Given the description of an element on the screen output the (x, y) to click on. 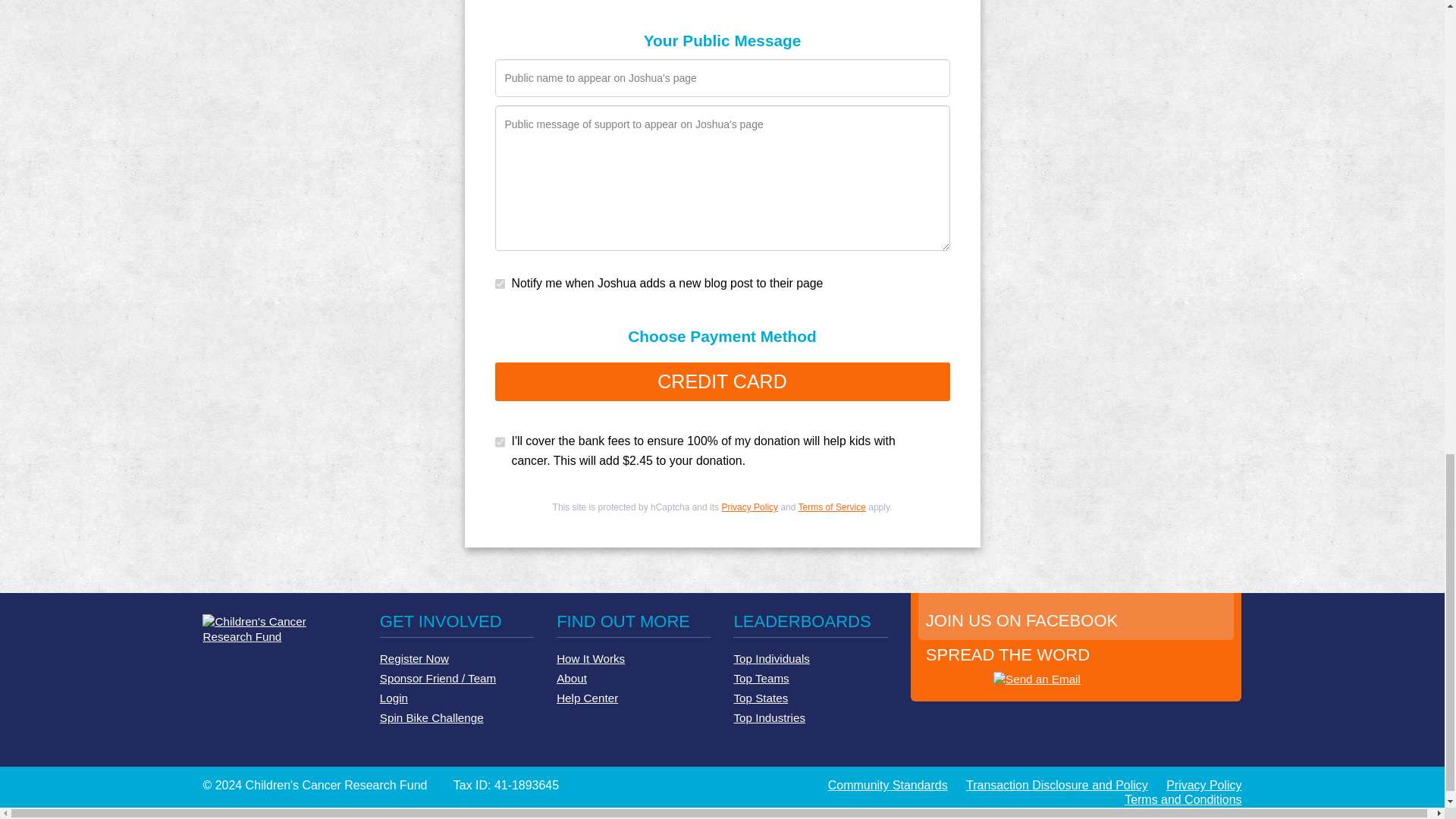
true (454, 162)
